Given the description of an element on the screen output the (x, y) to click on. 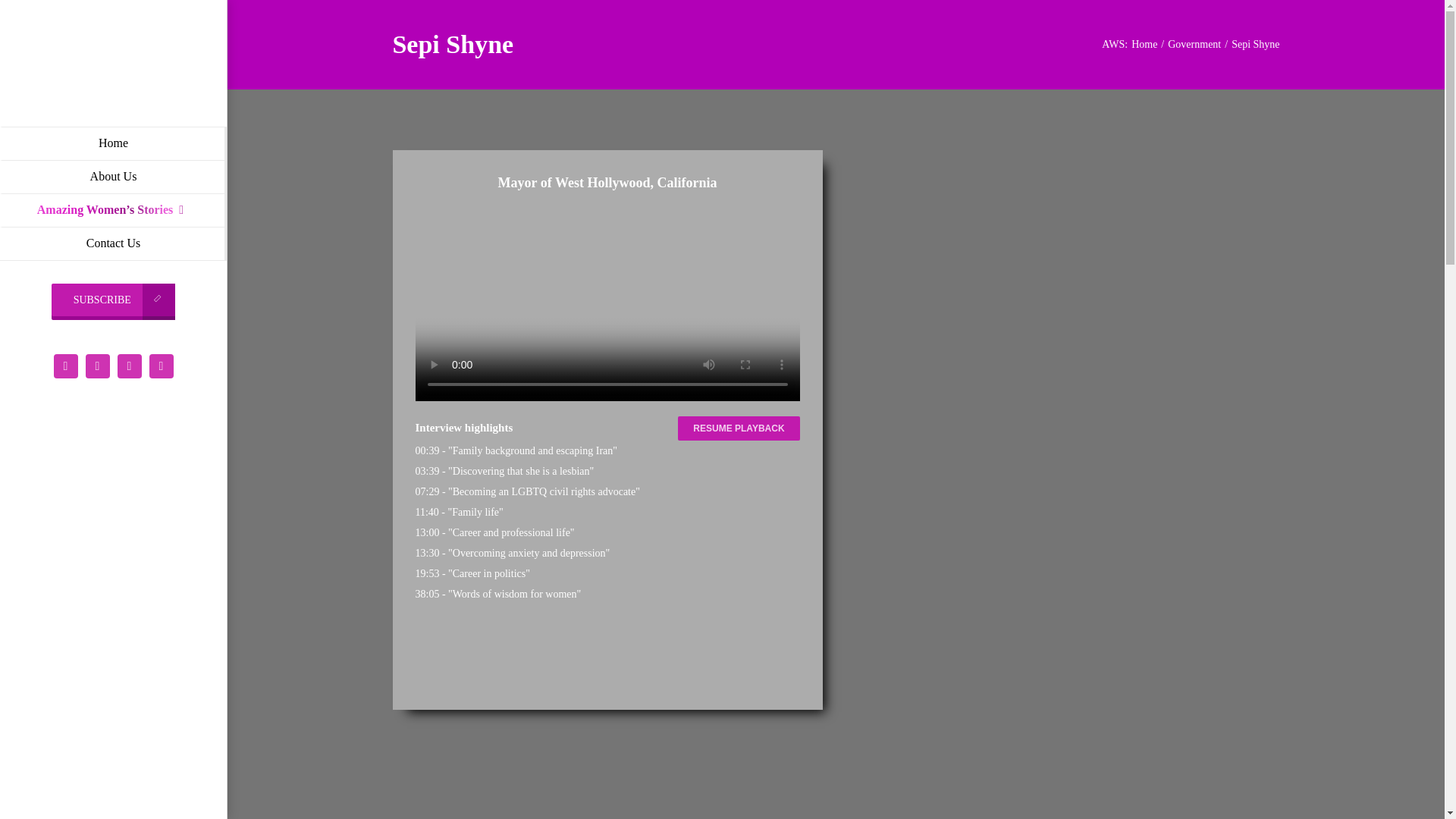
Instagram (96, 364)
Home (1144, 43)
Facebook (128, 364)
About Us (113, 176)
Contact Us (113, 243)
Home (113, 142)
X (64, 364)
RESUME PLAYBACK (738, 428)
Government (1194, 43)
LinkedIn (160, 364)
